Given the description of an element on the screen output the (x, y) to click on. 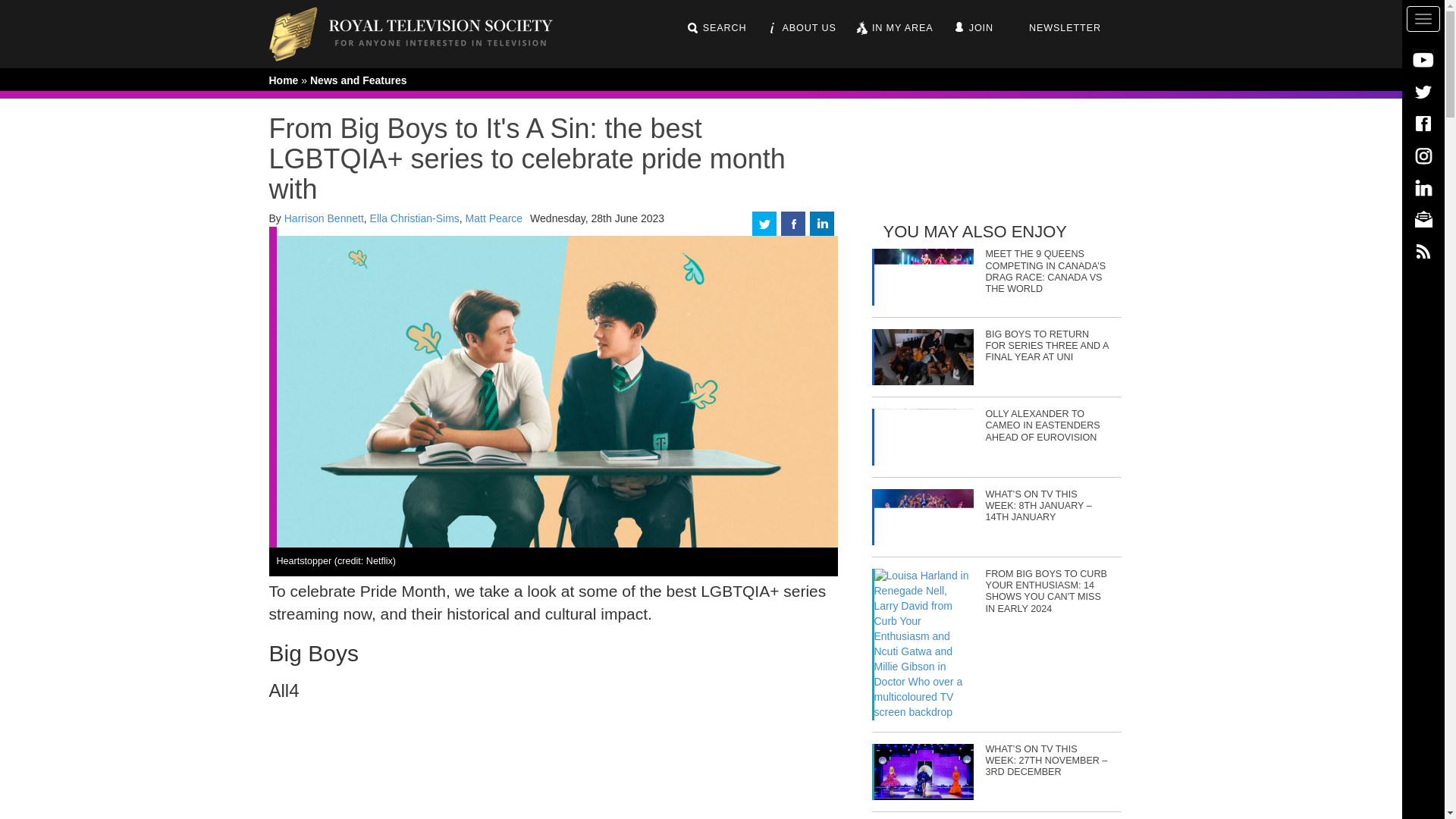
SEARCH (715, 28)
Facebook (1423, 123)
YouTube (1423, 59)
Tweet this (764, 223)
Home (421, 33)
YouTube video player (552, 764)
Share on LinkedIn (821, 223)
Instagram (1423, 154)
LinkedIn (1423, 186)
